Given the description of an element on the screen output the (x, y) to click on. 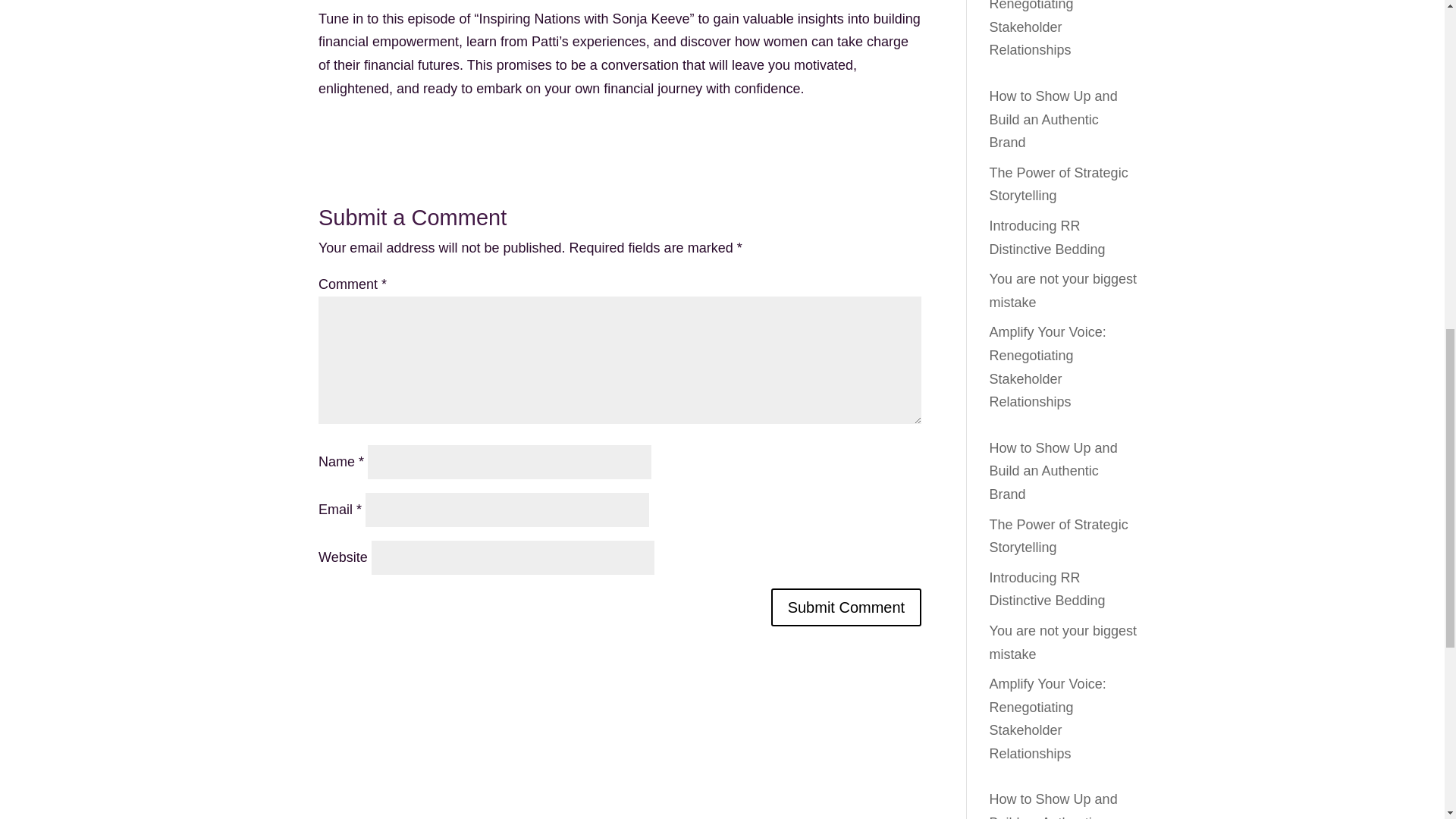
The Power of Strategic Storytelling (1059, 184)
Amplify Your Voice: Renegotiating Stakeholder Relationships (1048, 366)
The Power of Strategic Storytelling (1059, 536)
Introducing RR Distinctive Bedding (1047, 237)
You are not your biggest mistake (1063, 642)
Amplify Your Voice: Renegotiating Stakeholder Relationships (1048, 29)
How to Show Up and Build an Authentic Brand (1054, 471)
Submit Comment (846, 607)
Amplify Your Voice: Renegotiating Stakeholder Relationships (1048, 718)
Introducing RR Distinctive Bedding (1047, 589)
